Given the description of an element on the screen output the (x, y) to click on. 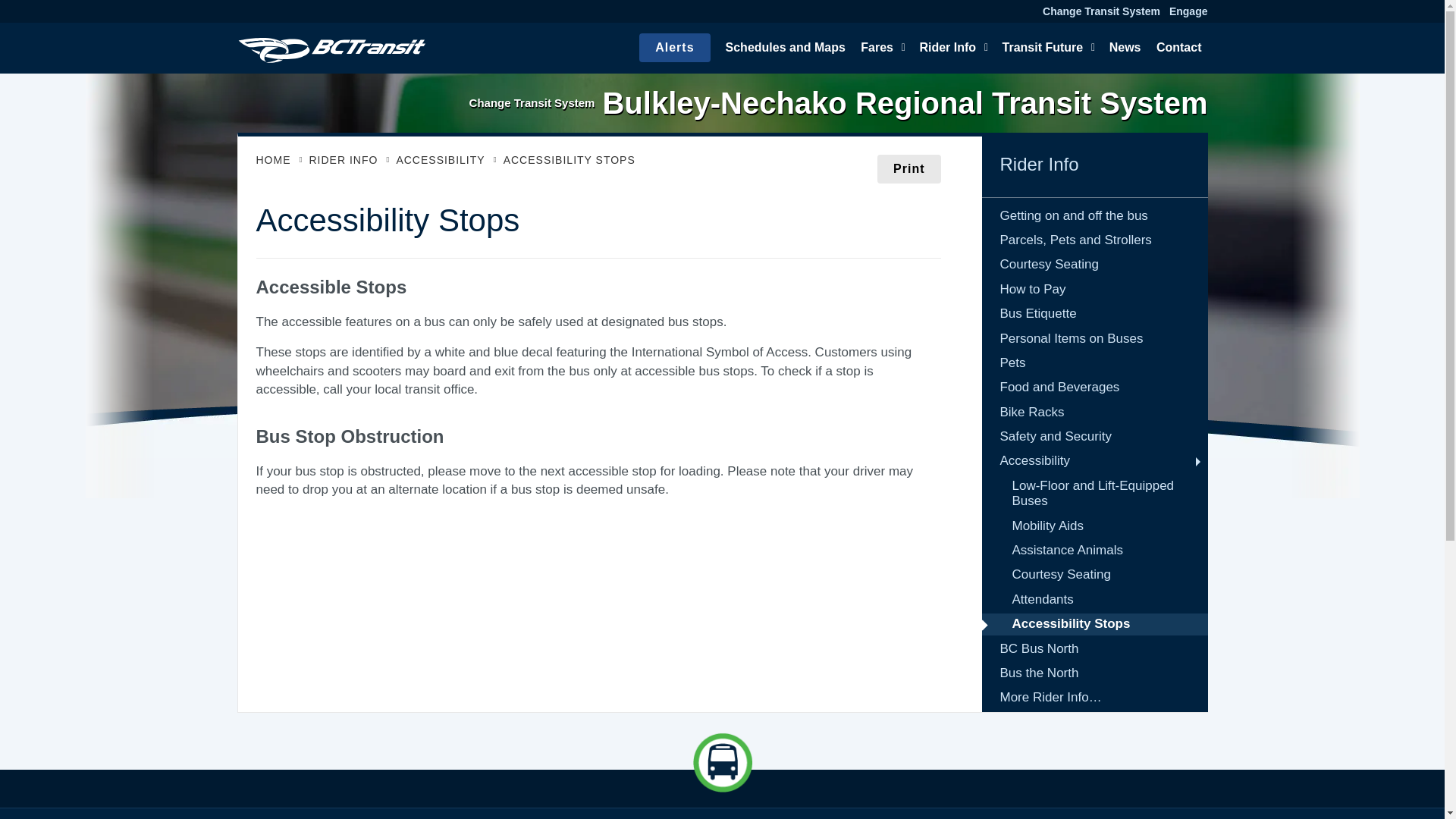
Engage (1188, 10)
Change Transit System (1101, 10)
